Given the description of an element on the screen output the (x, y) to click on. 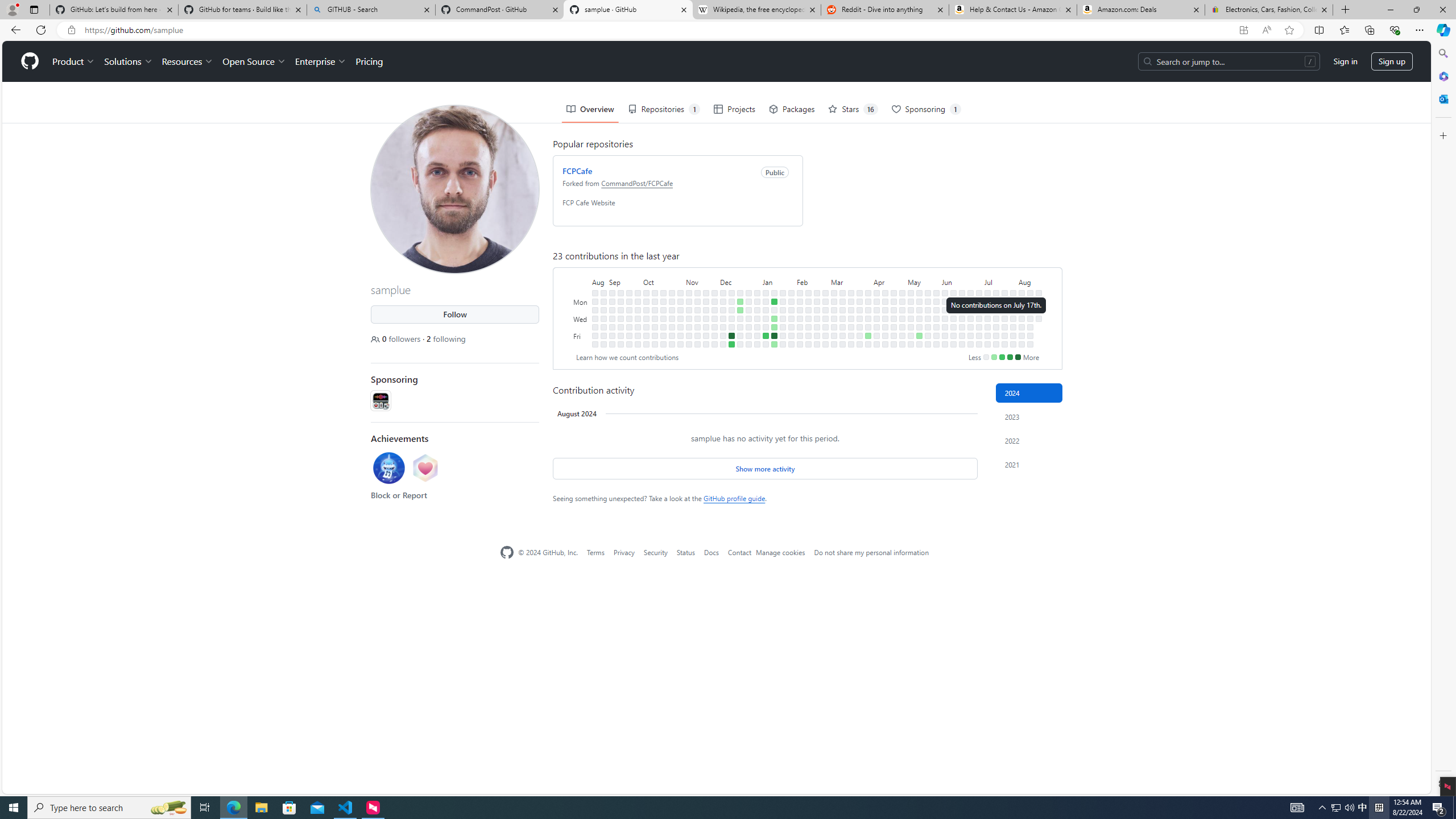
No contributions on April 29th. (902, 301)
No contributions on September 6th. (611, 318)
Solutions (128, 60)
Repositories 1 (663, 108)
No contributions on October 10th. (655, 309)
No contributions on August 4th. (1022, 292)
Sponsoring 1 (925, 108)
No contributions on September 9th. (611, 343)
No contributions on November 5th. (688, 292)
No contributions on July 21st. (1004, 292)
No contributions on June 19th. (962, 318)
No contributions on June 15th. (953, 343)
No contributions on July 11th. (987, 326)
